Given the description of an element on the screen output the (x, y) to click on. 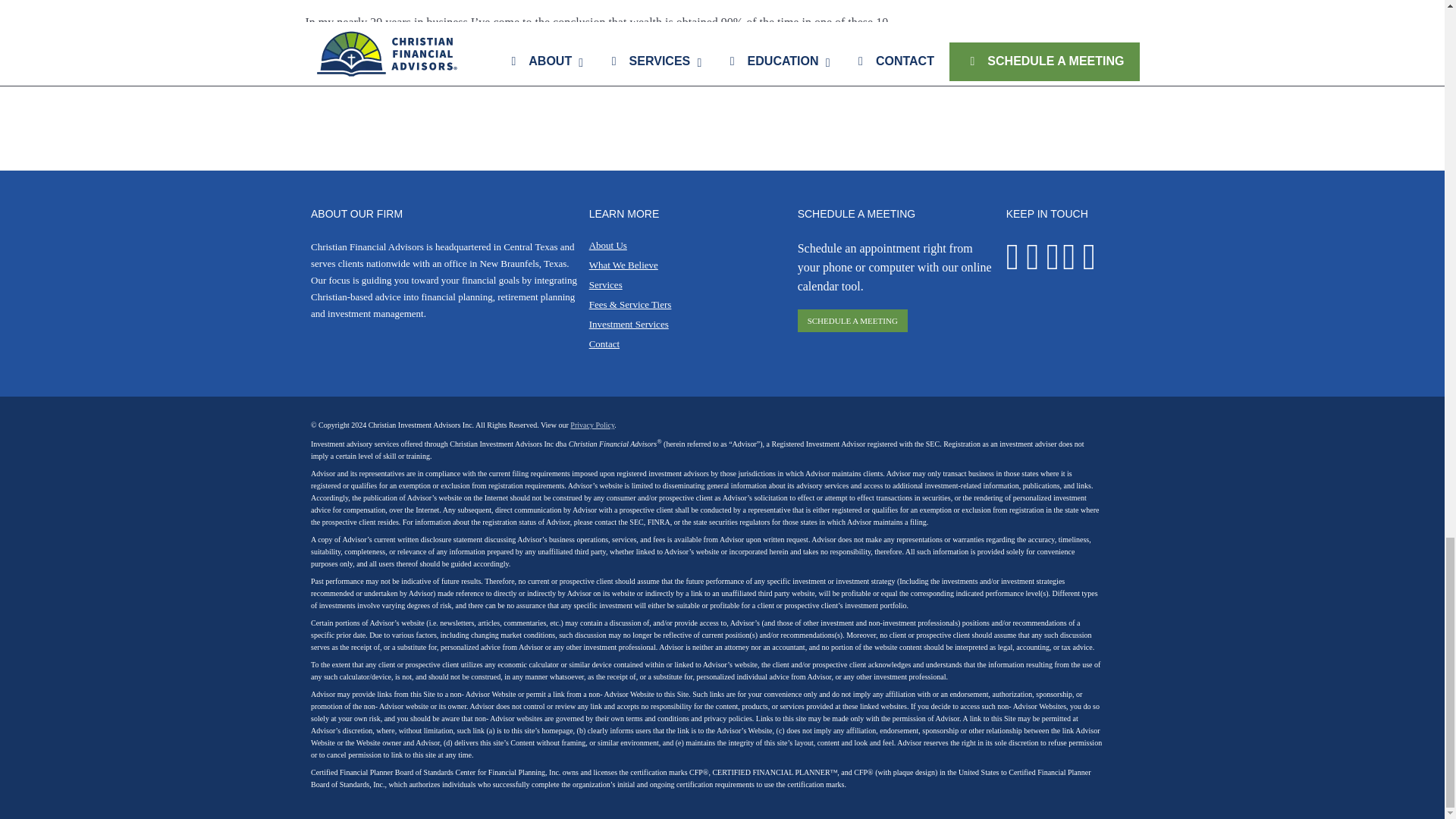
What We Believe (623, 265)
Contact Us (604, 343)
Schedule an Appointment (852, 320)
Services (606, 284)
About Us (608, 244)
Investment Services (628, 324)
